Given the description of an element on the screen output the (x, y) to click on. 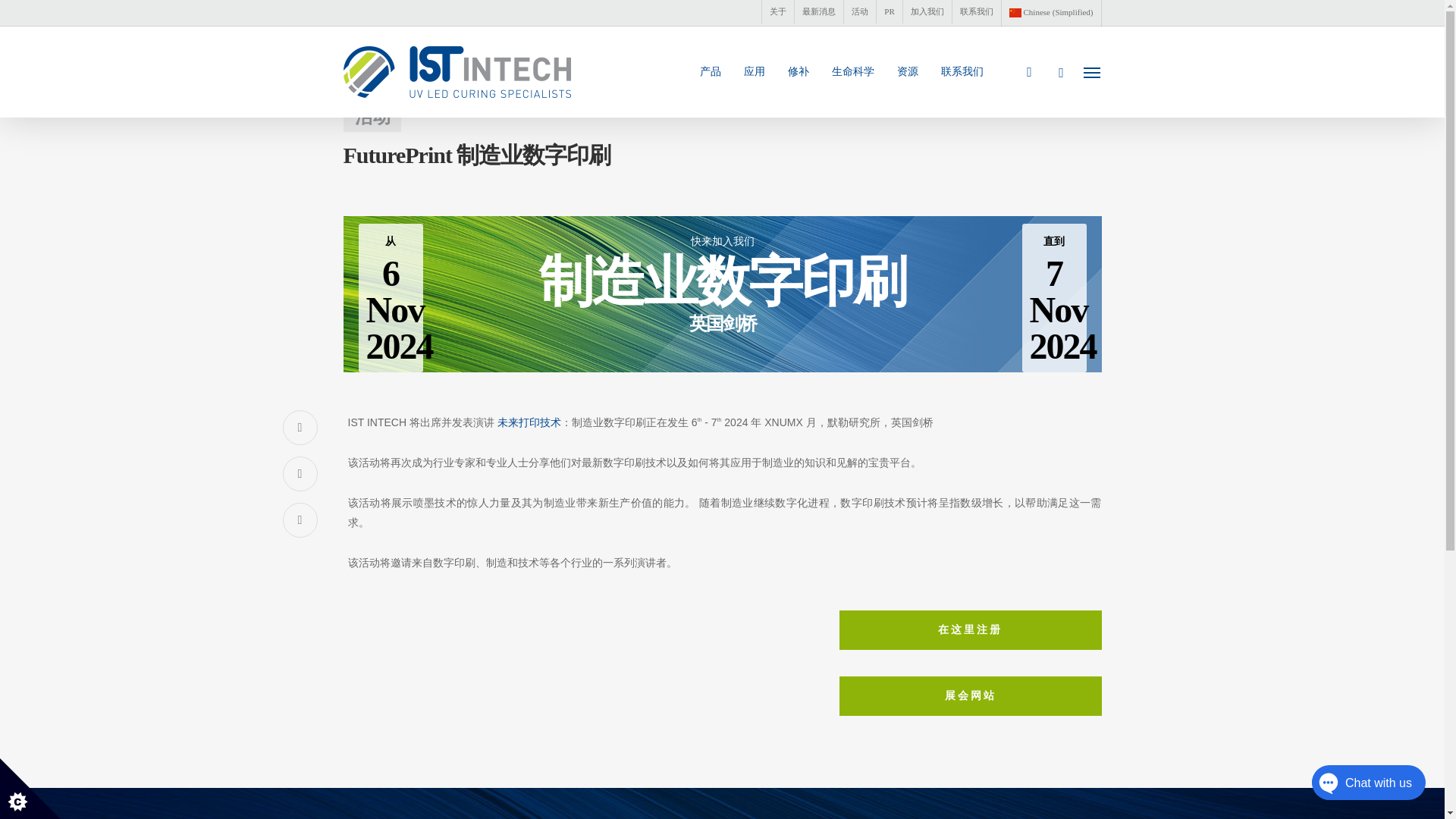
Chat with us (1353, 786)
PR (888, 11)
